Given the description of an element on the screen output the (x, y) to click on. 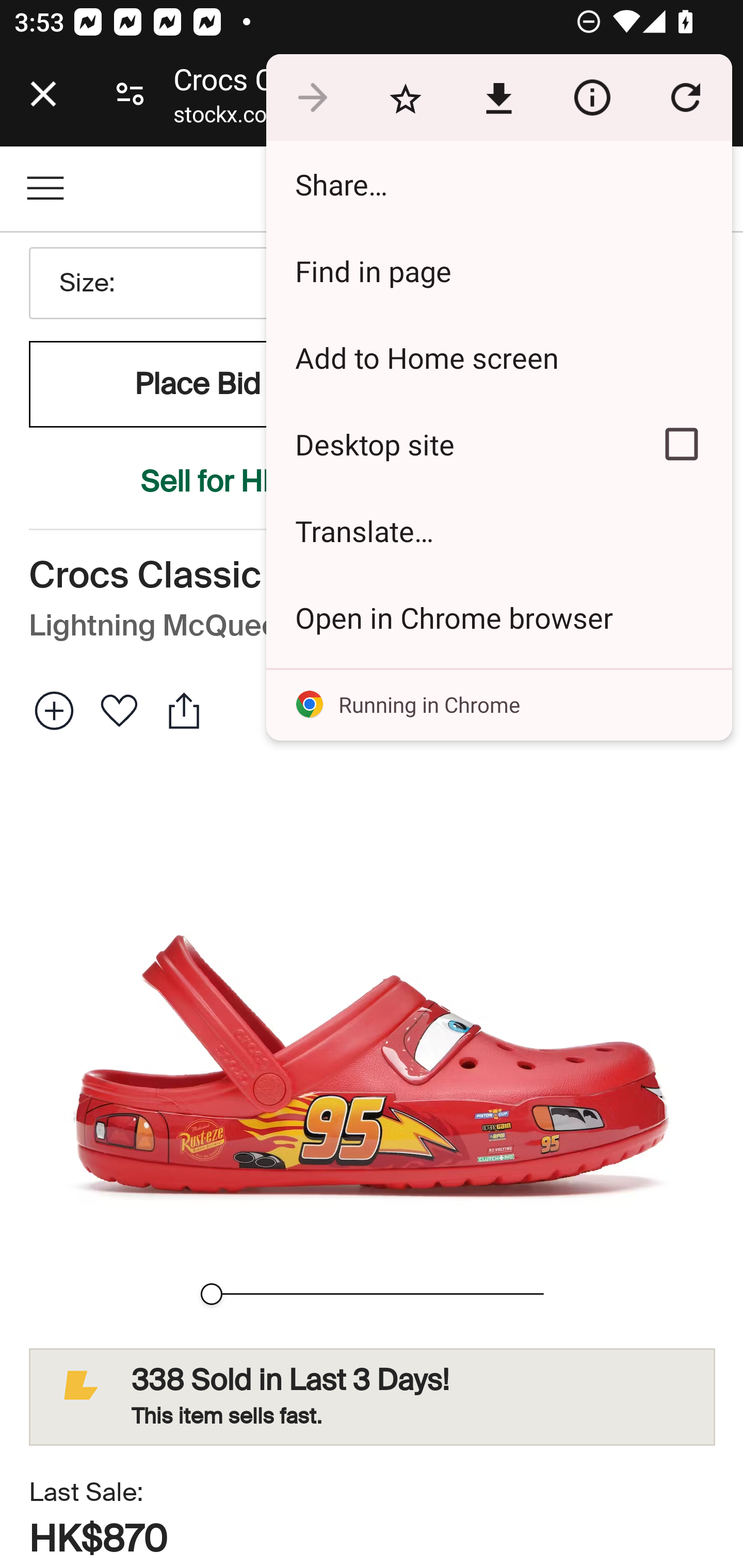
Go forward (311, 97)
Bookmark (404, 97)
Download this page (498, 97)
View site information (591, 97)
Refresh (684, 97)
Share… (498, 184)
Find in page (498, 270)
Add to Home screen (498, 357)
Desktop site Turn on Request desktop site (447, 444)
Translate… (498, 530)
Open in Chrome browser (498, 616)
